Given the description of an element on the screen output the (x, y) to click on. 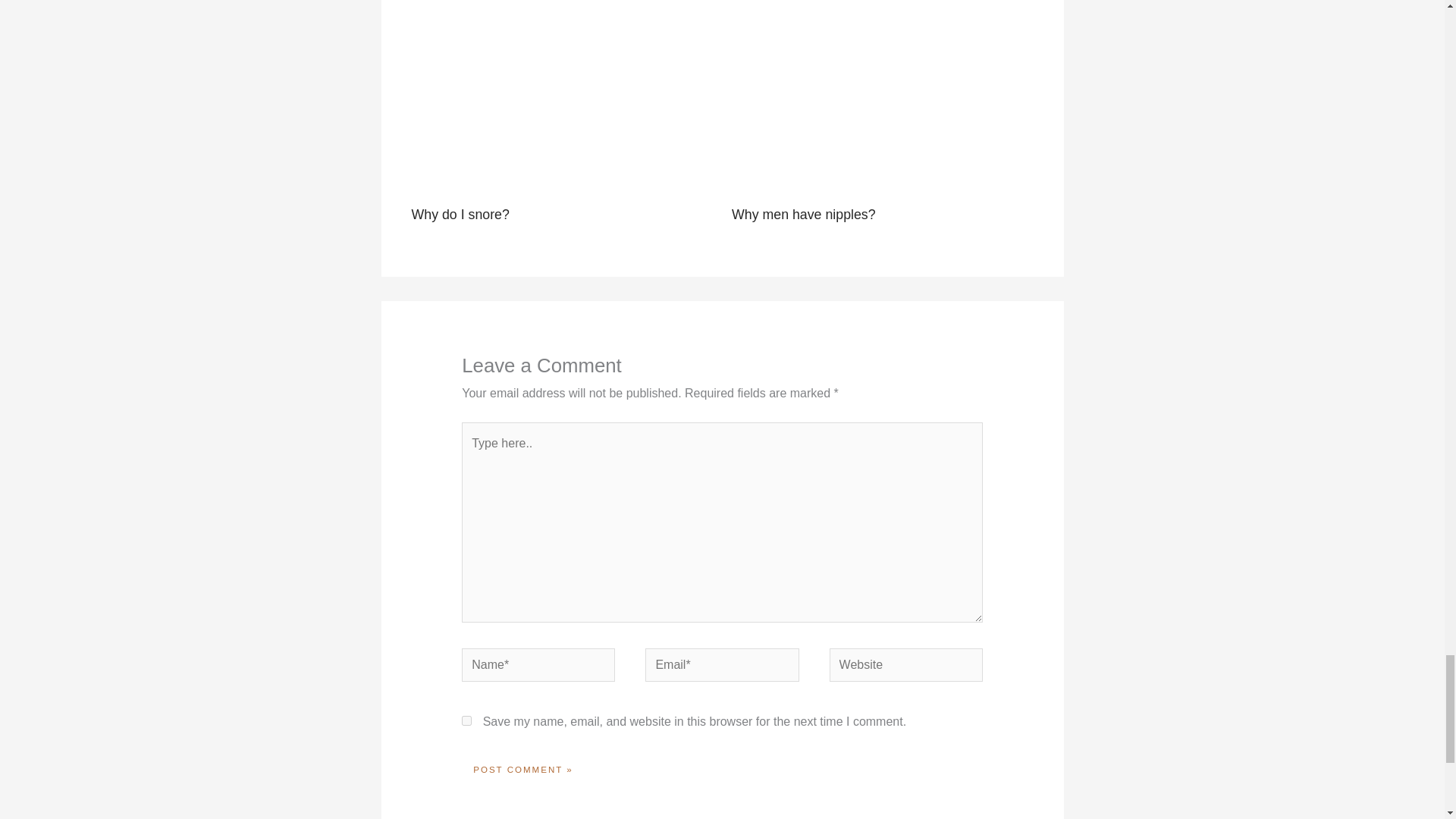
yes (466, 720)
